Given the description of an element on the screen output the (x, y) to click on. 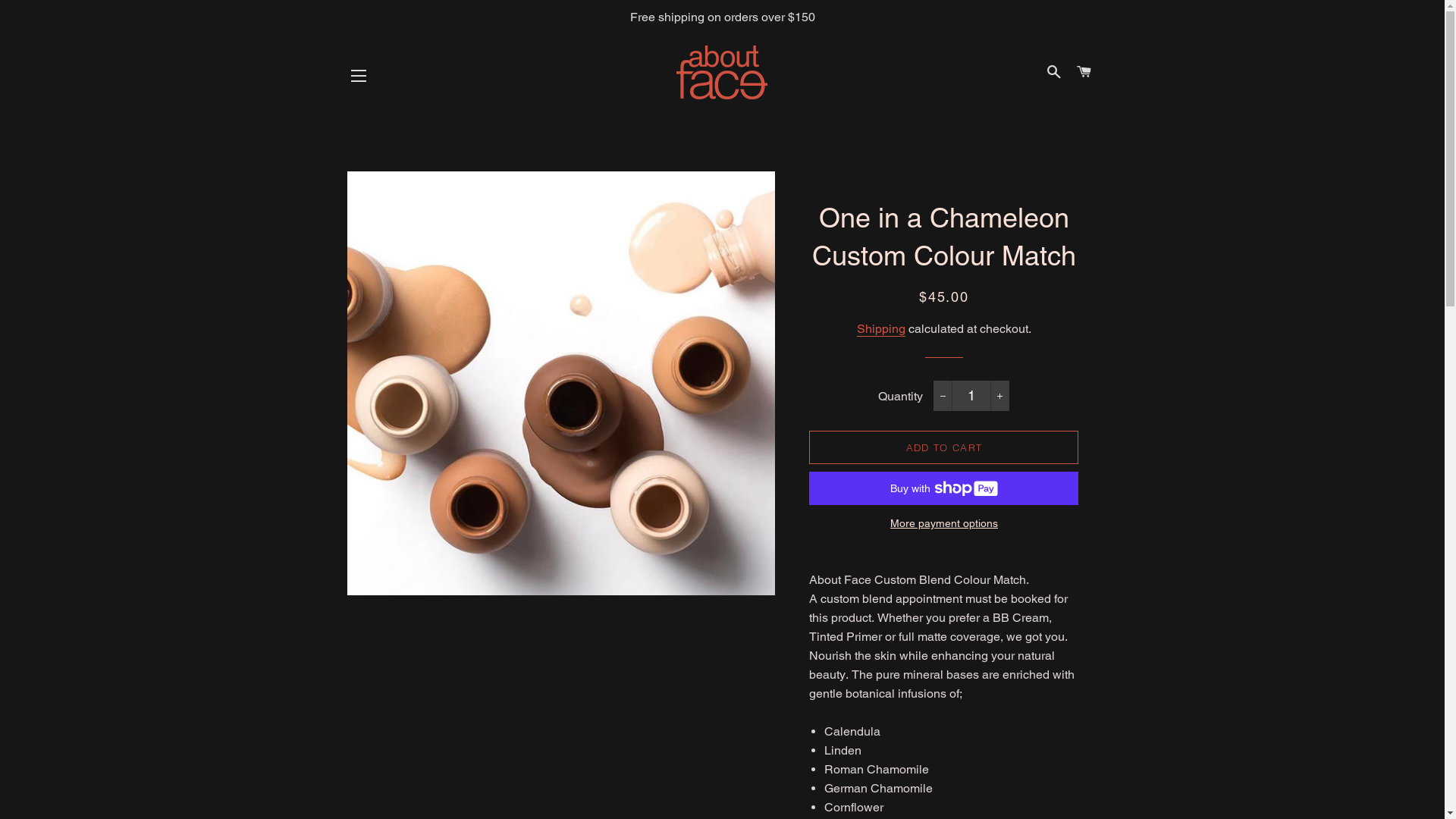
+ Element type: text (999, 395)
SITE NAVIGATION Element type: text (358, 75)
ADD TO CART Element type: text (943, 447)
Shipping Element type: text (880, 328)
SEARCH Element type: text (1054, 71)
CART Element type: text (1083, 71)
More payment options Element type: text (943, 523)
